Given the description of an element on the screen output the (x, y) to click on. 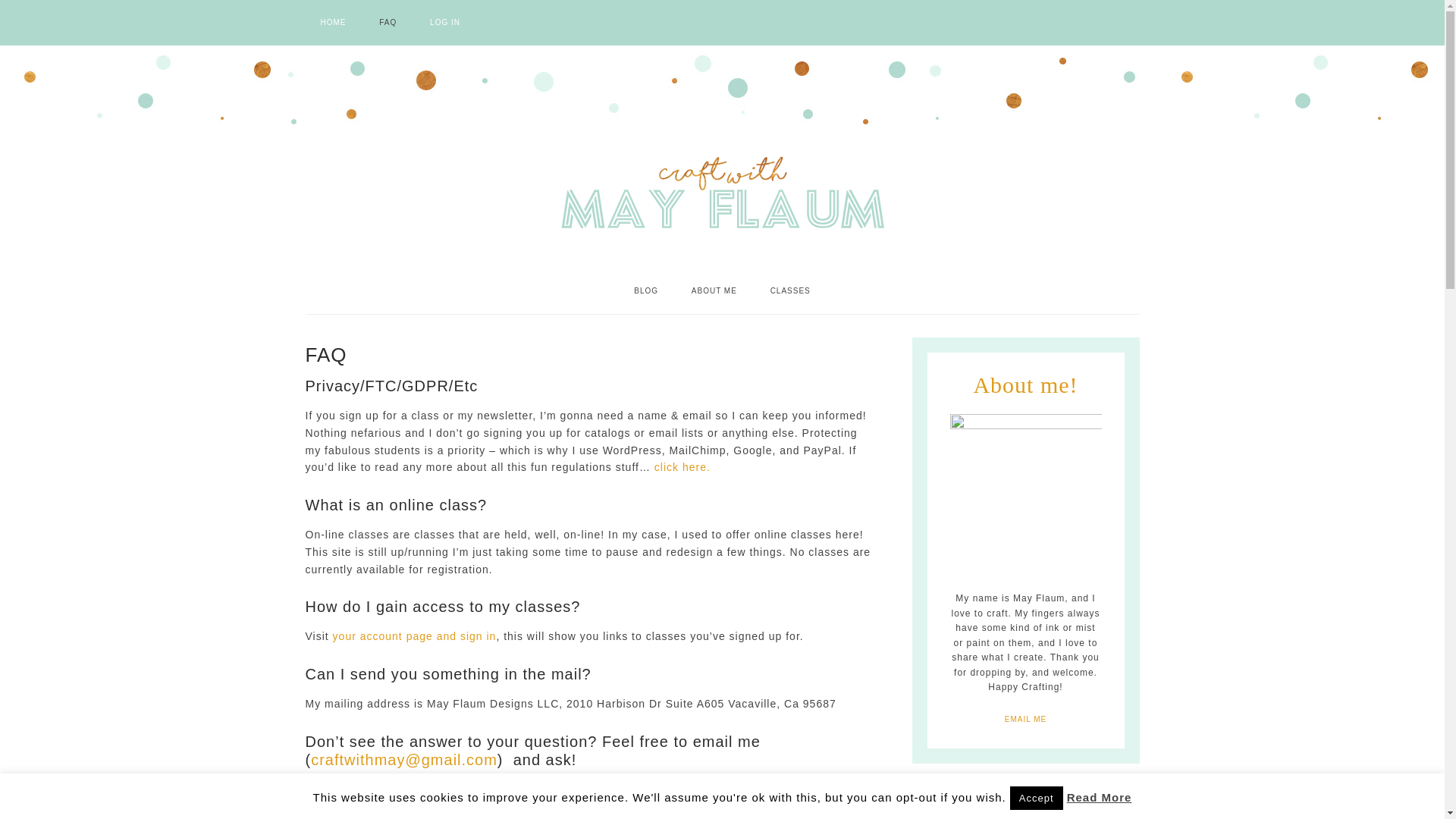
LOG IN (445, 22)
Read More (1099, 797)
EMAIL ME (1024, 718)
Accept (1036, 797)
your account page and sign in (414, 635)
FAQ (388, 22)
ABOUT ME (714, 290)
HOME (332, 22)
CRAFT WITH MAY (721, 194)
click here.  (683, 467)
CLASSES (790, 290)
BLOG (645, 290)
